Given the description of an element on the screen output the (x, y) to click on. 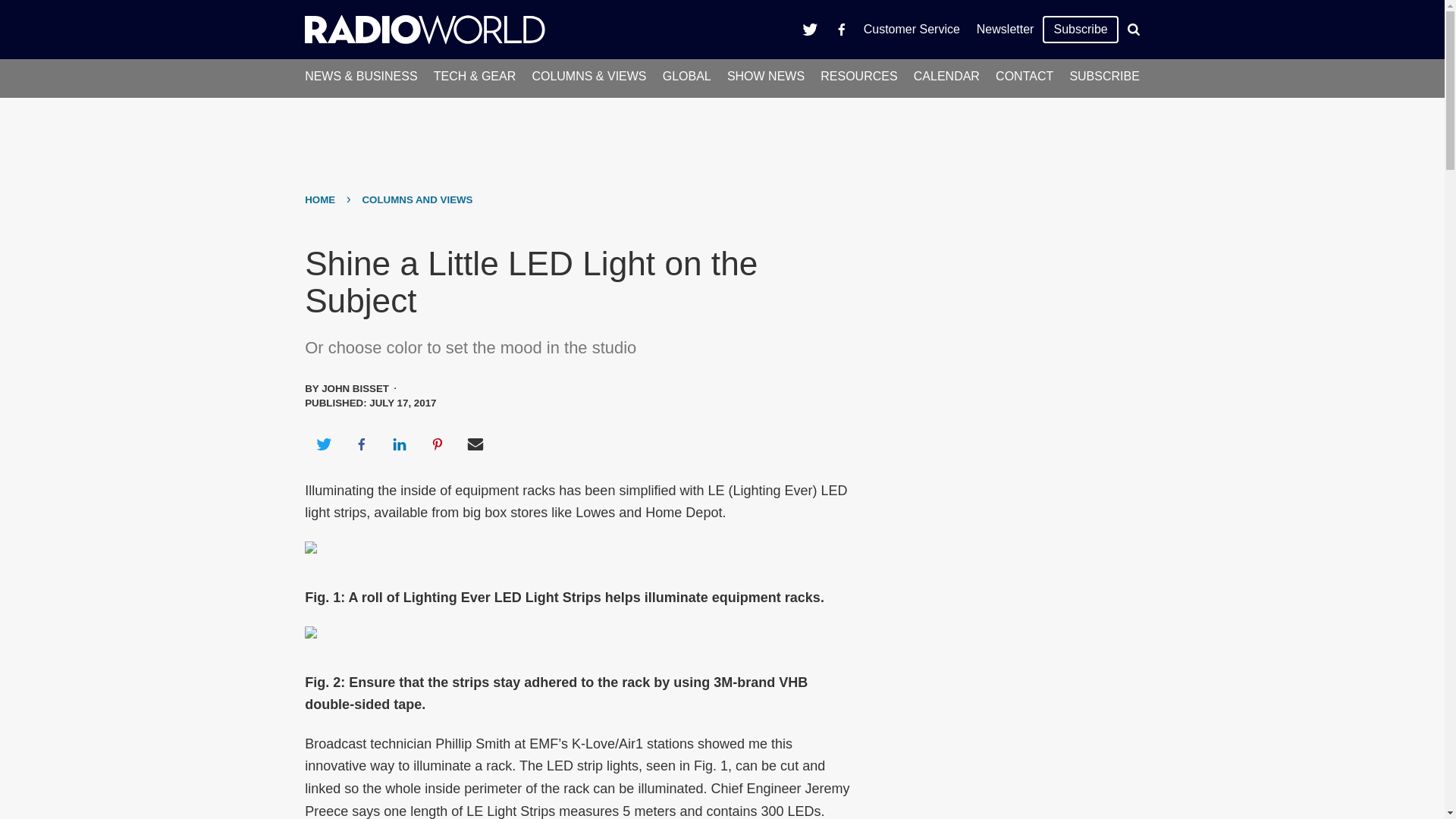
Share on LinkedIn (399, 444)
Customer Service (912, 29)
Share on Facebook (361, 444)
Share via Email (476, 444)
Share on Pinterest (438, 444)
Share on Twitter (323, 444)
